Given the description of an element on the screen output the (x, y) to click on. 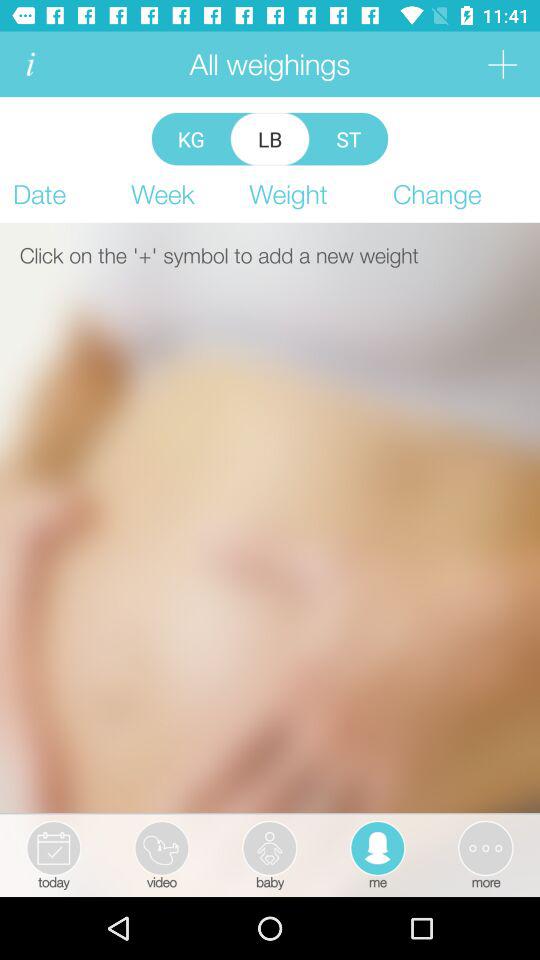
flip to lb (269, 138)
